Given the description of an element on the screen output the (x, y) to click on. 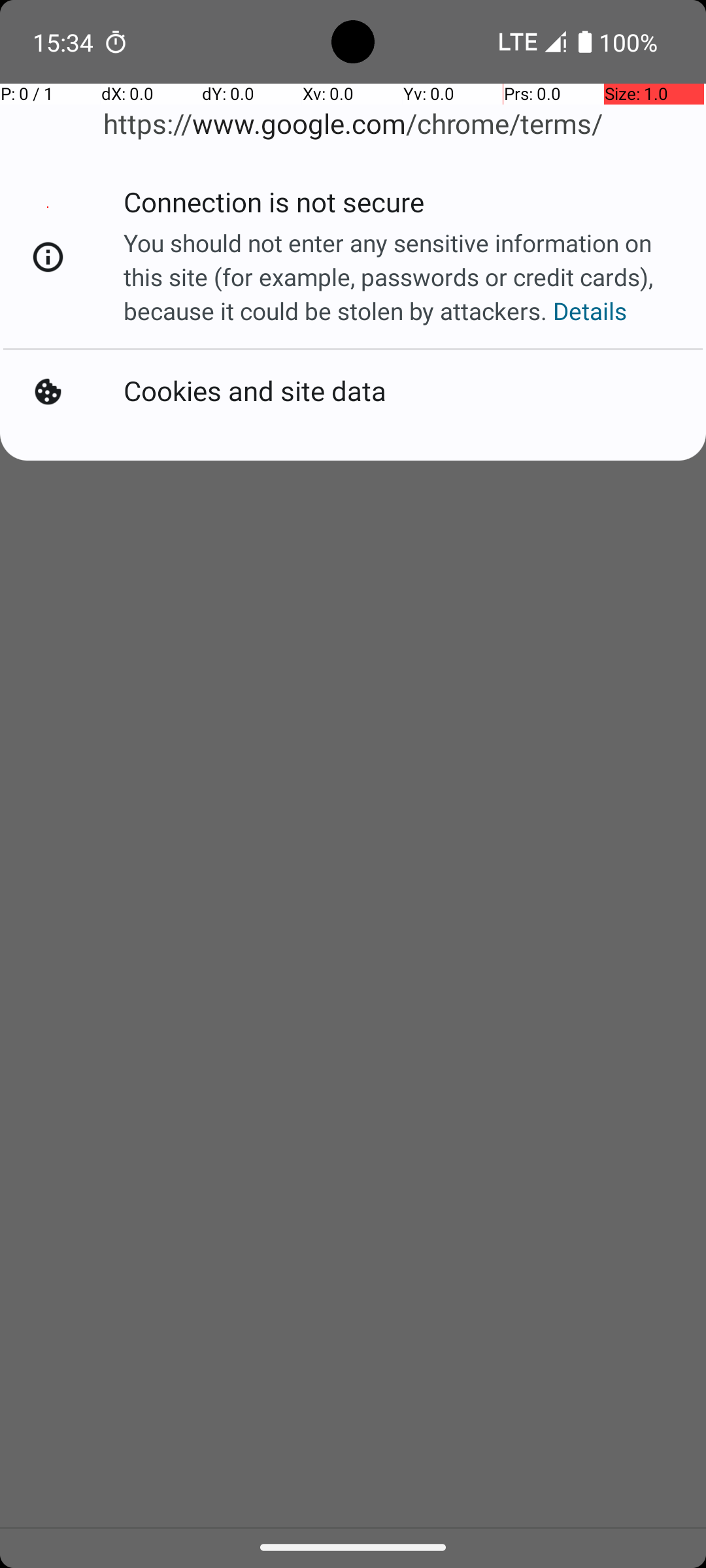
https://www.google.com/chrome/terms/ Element type: android.widget.TextView (352, 124)
You should not enter any sensitive information on this site (for example, passwords or credit cards), because it could be stolen by attackers. Details Element type: android.widget.TextView (399, 276)
Cookies and site data Element type: android.widget.TextView (256, 389)
